Given the description of an element on the screen output the (x, y) to click on. 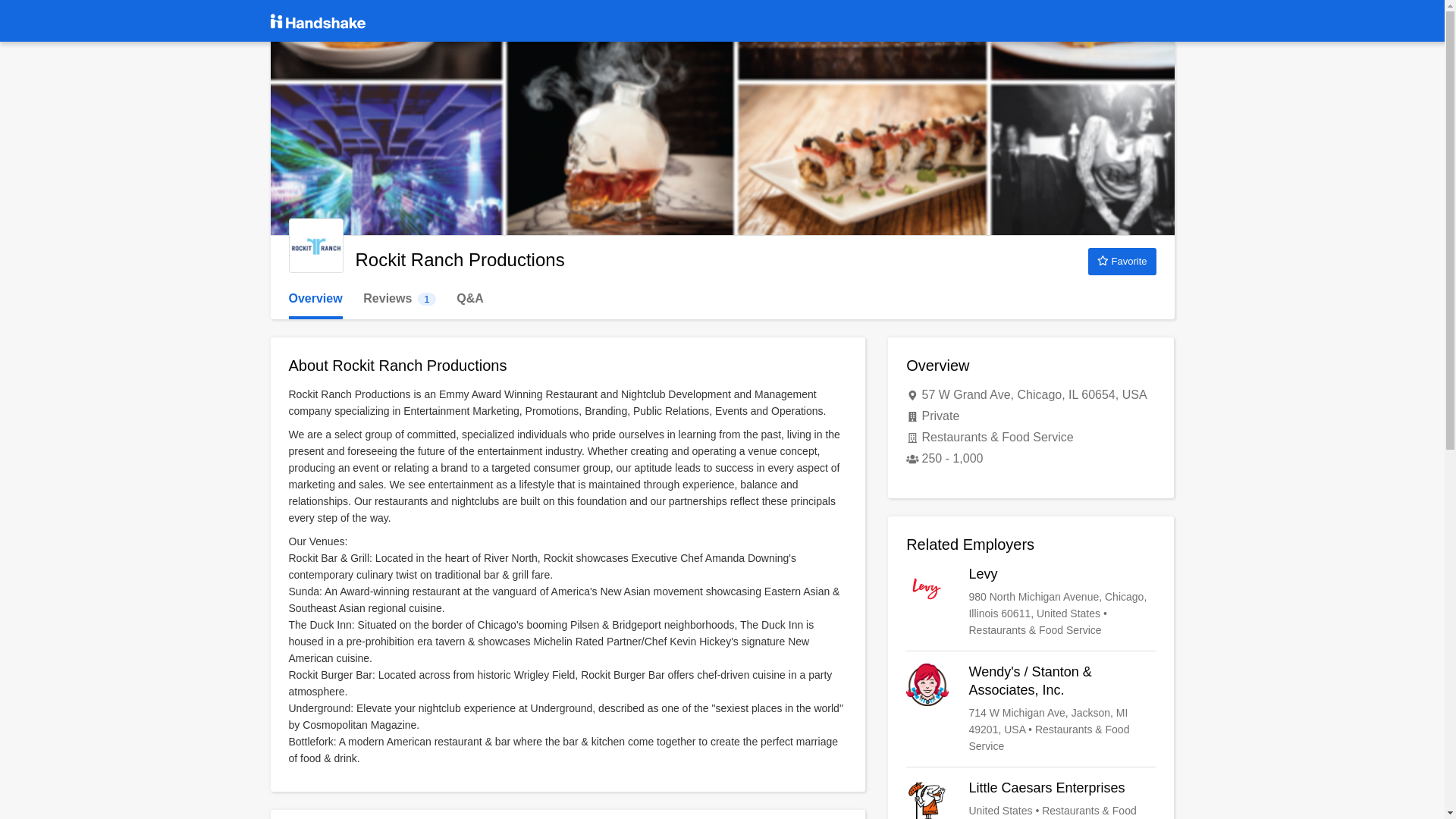
Levy (1030, 601)
Little Caesars Enterprises (1030, 799)
Overview (315, 298)
Rockit Ranch Productions (315, 245)
Favorite (398, 298)
